Given the description of an element on the screen output the (x, y) to click on. 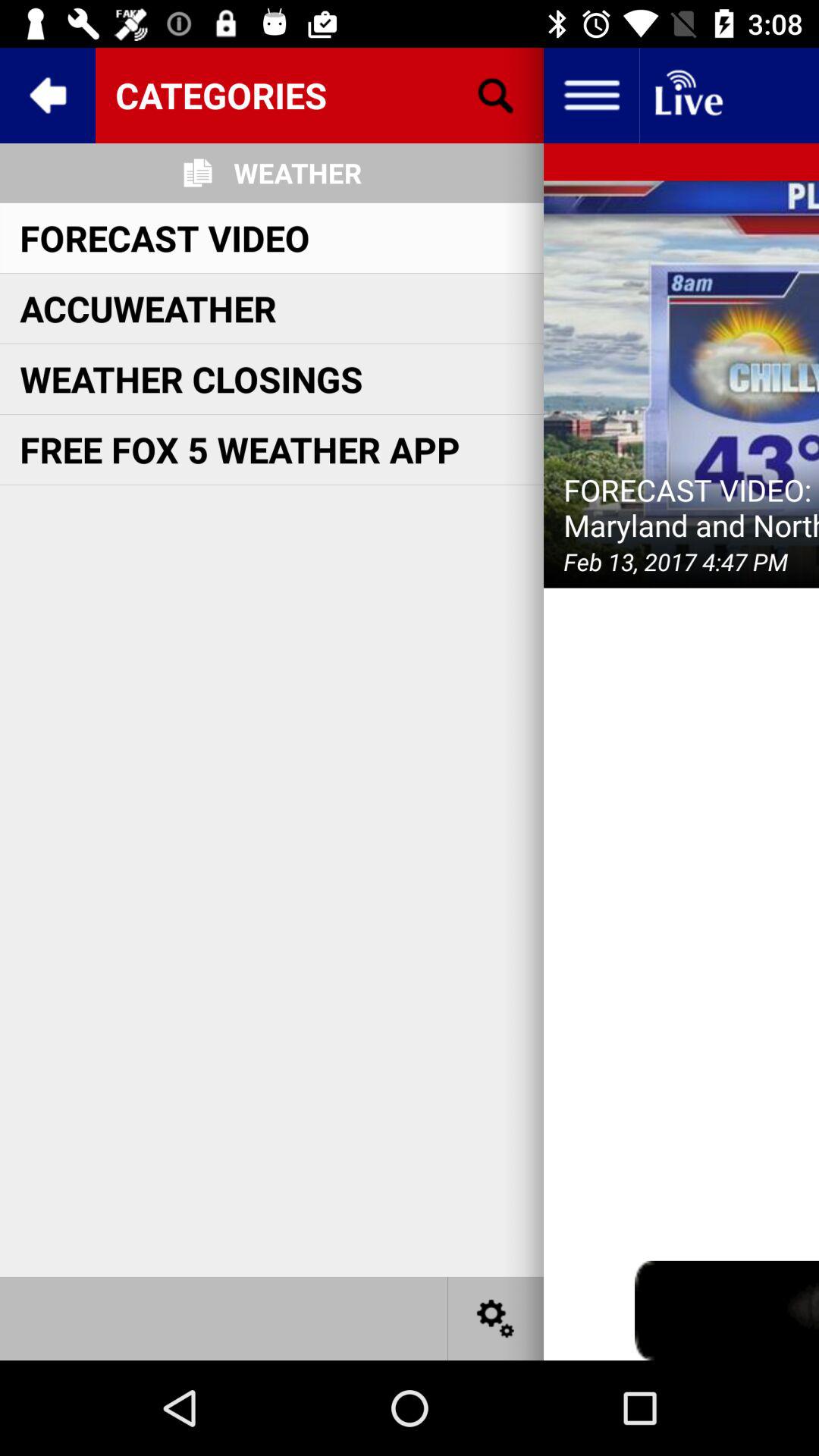
click weather closings icon (190, 378)
